Given the description of an element on the screen output the (x, y) to click on. 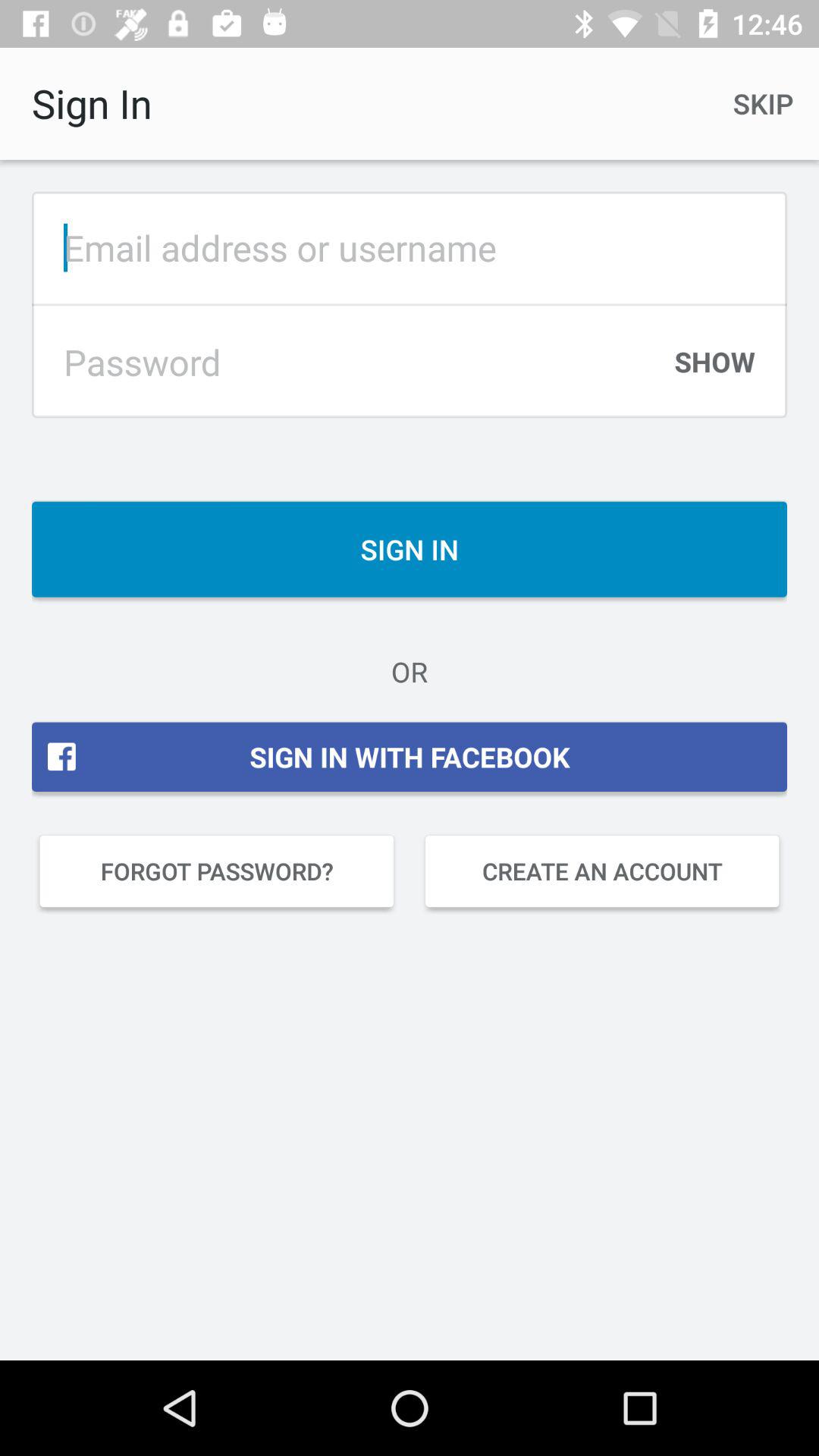
launch forgot password? (216, 871)
